Given the description of an element on the screen output the (x, y) to click on. 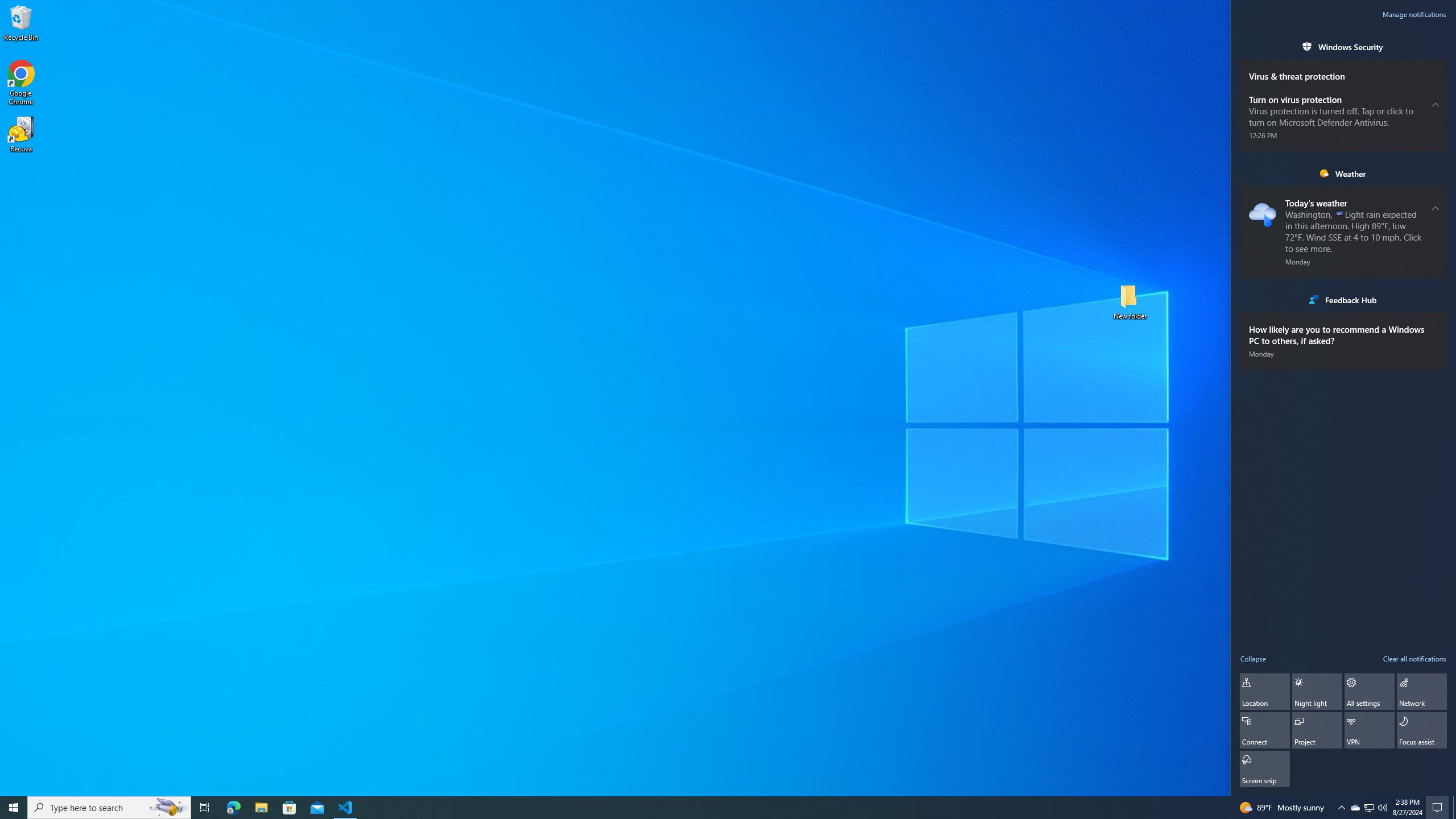
Search highlights icon opens search home window (167, 807)
File Explorer (261, 807)
Clear all notifications for Virus & threat protection (1435, 69)
Microsoft Edge (233, 807)
Microsoft Store (289, 807)
Location (1265, 691)
Start (13, 807)
Network (1421, 691)
User Promoted Notification Area (1368, 807)
Clear all notifications for Windows Security (1435, 46)
Task View (204, 807)
Settings for this notification (1435, 333)
